Given the description of an element on the screen output the (x, y) to click on. 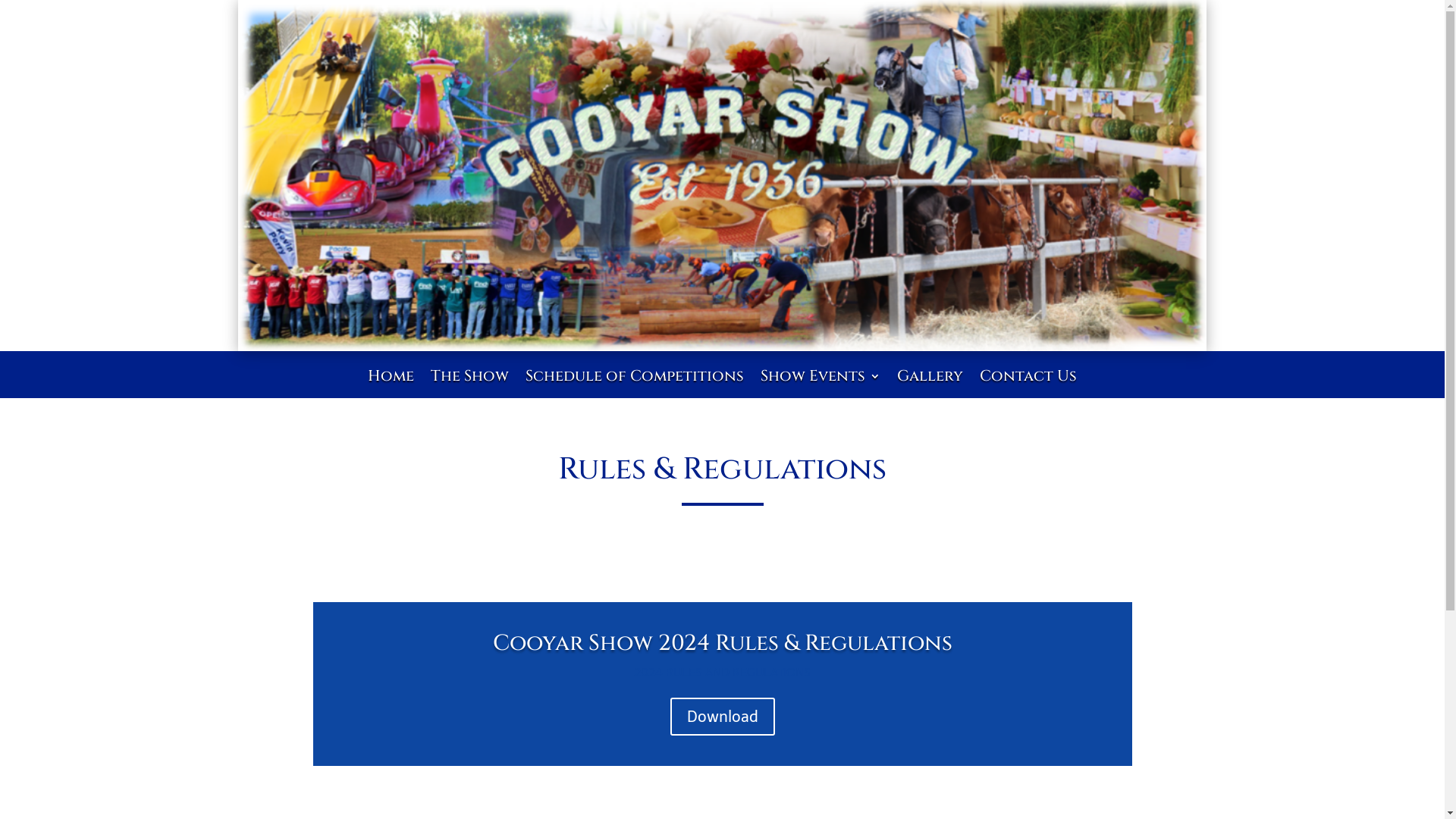
2024 RULES AND REGULATIONS Element type: text (721, 672)
Contact Us Element type: text (1027, 387)
Home Element type: text (390, 387)
The Show Element type: text (469, 387)
Schedule of Competitions Element type: text (634, 387)
Show Events Element type: text (820, 387)
Download Element type: text (722, 716)
Website banner bright final (2) Element type: hover (721, 175)
Gallery Element type: text (930, 387)
